Given the description of an element on the screen output the (x, y) to click on. 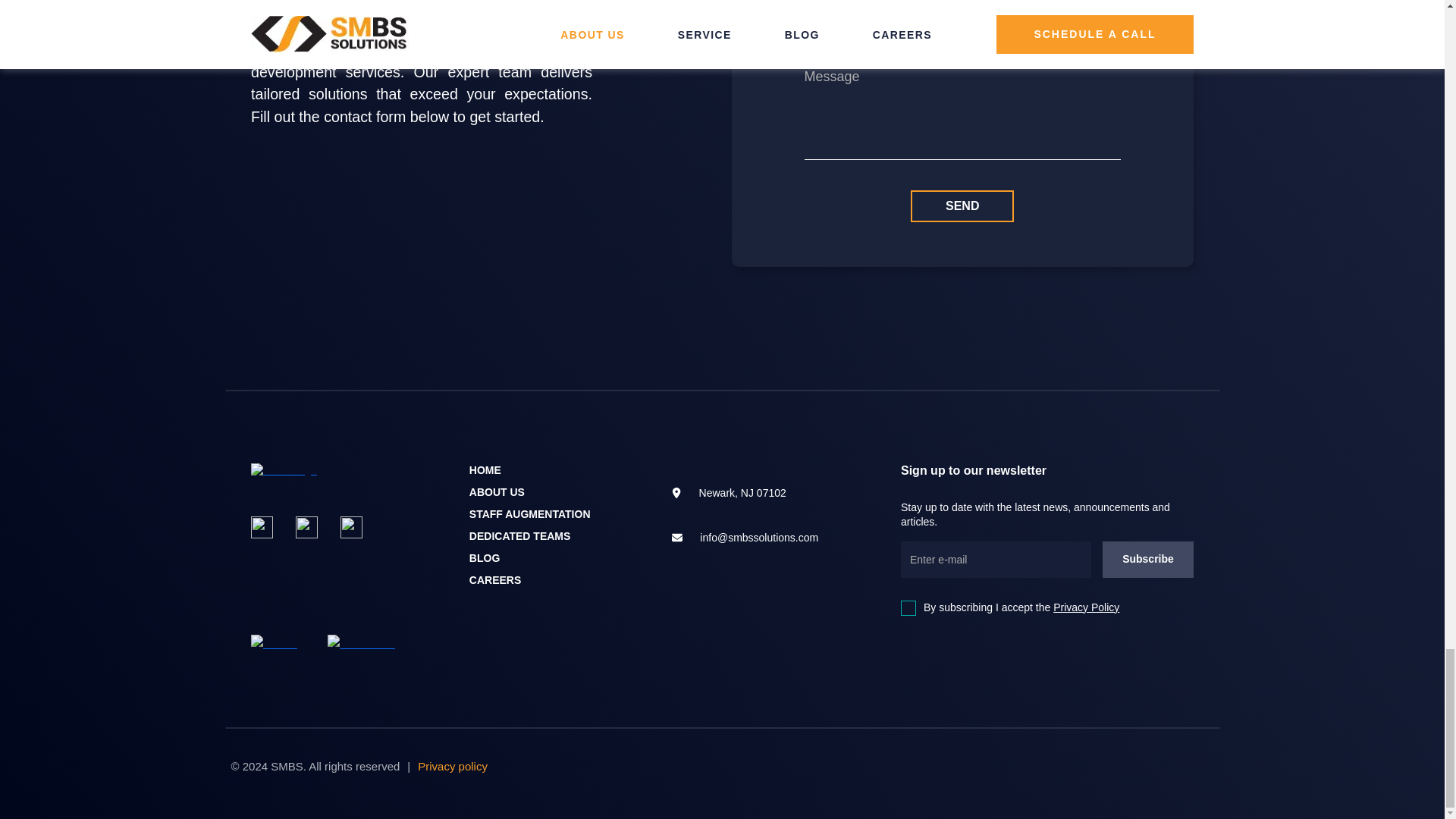
Privacy policy (452, 766)
HOME (484, 469)
SEND (962, 205)
Subscribe (1147, 559)
BLOG (483, 558)
Privacy Policy (1085, 607)
DEDICATED TEAMS (519, 535)
Newark, NJ 07102 (758, 492)
STAFF AUGMENTATION (529, 513)
ABOUT US (496, 491)
CAREERS (494, 579)
